Given the description of an element on the screen output the (x, y) to click on. 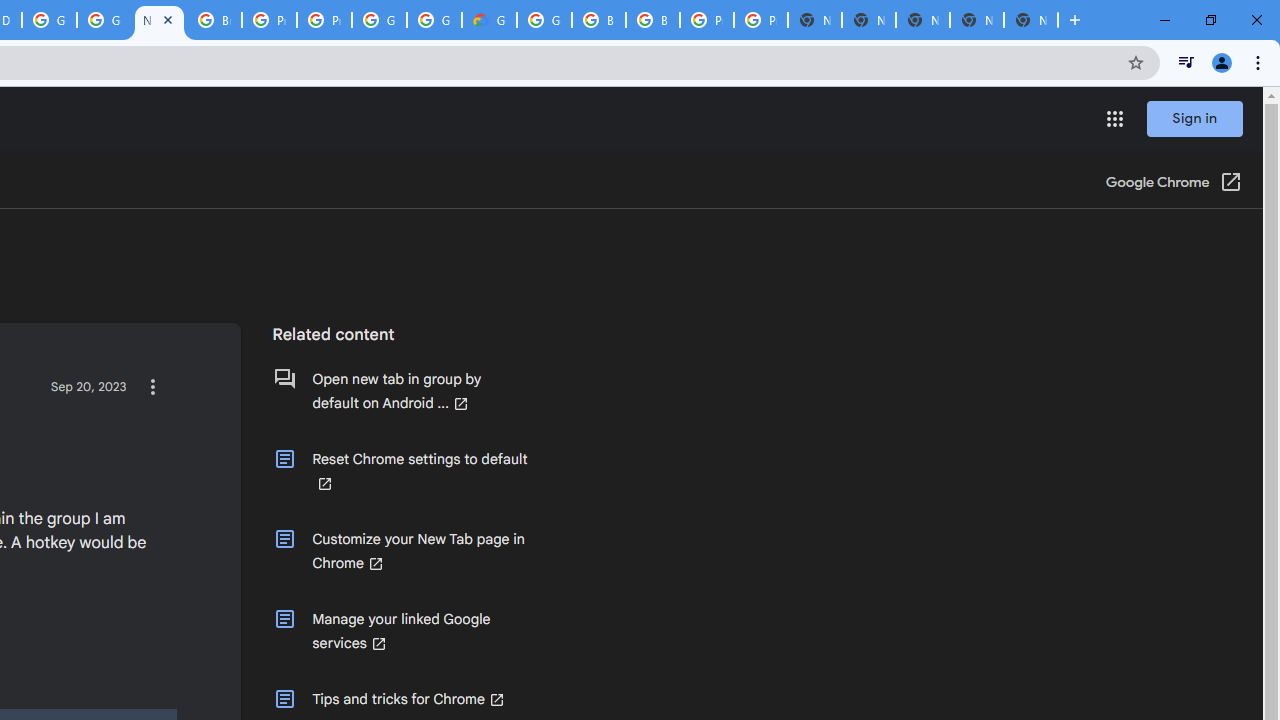
Browse Chrome as a guest - Computer - Google Chrome Help (598, 20)
Action items for the question (152, 386)
